Given the description of an element on the screen output the (x, y) to click on. 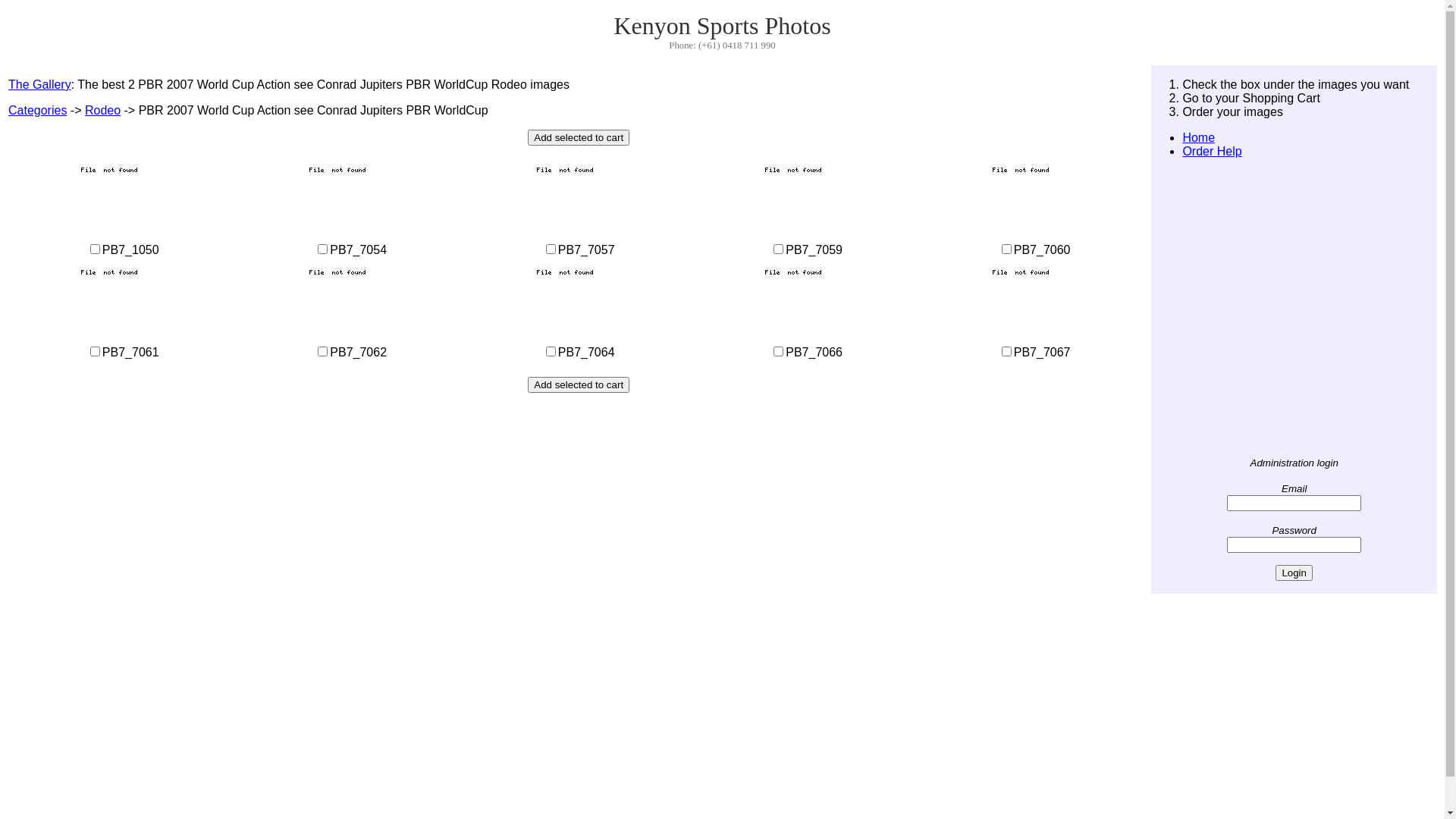
Categories Element type: text (37, 109)
Add selected to cart Element type: text (578, 384)
Rodeo Element type: text (102, 109)
Login Element type: text (1293, 572)
Home Element type: text (1198, 137)
Order Help Element type: text (1211, 150)
Add selected to cart Element type: text (578, 137)
The Gallery Element type: text (39, 84)
